Given the description of an element on the screen output the (x, y) to click on. 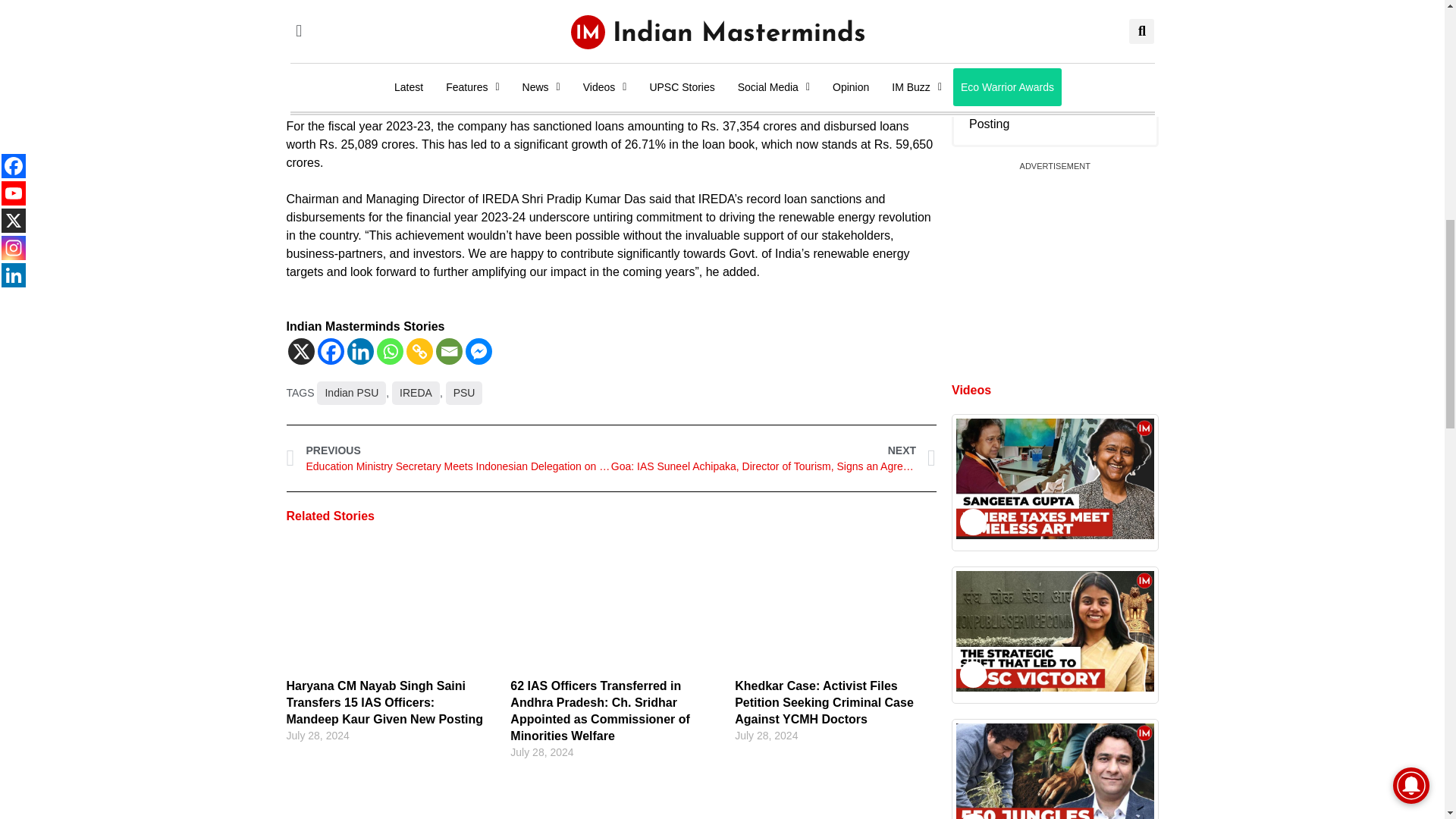
Facebook (330, 351)
Whatsapp (389, 351)
X (301, 351)
3rd party ad content (610, 70)
Linkedin (360, 351)
